Given the description of an element on the screen output the (x, y) to click on. 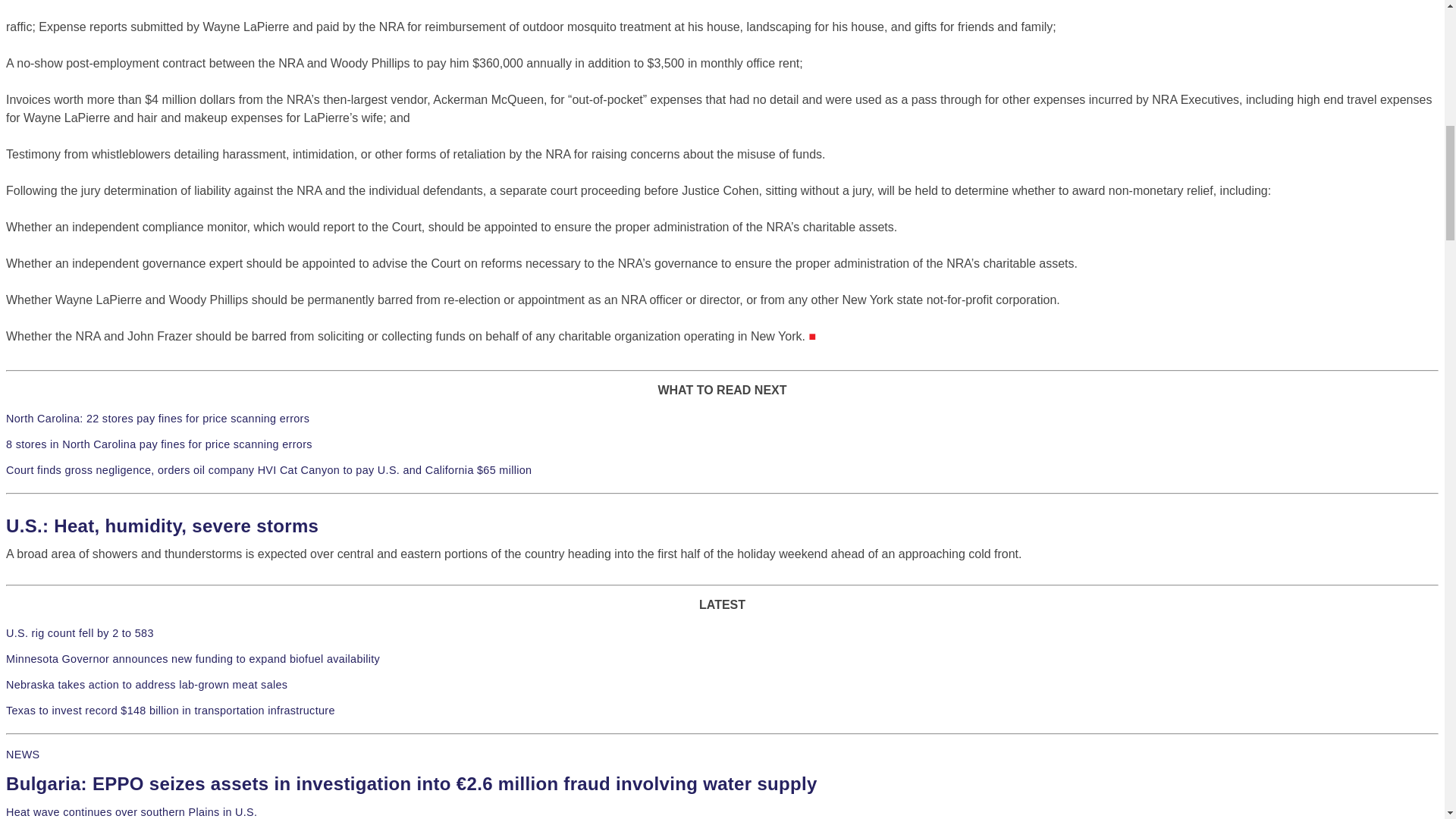
U.S.: Heat, humidity, severe storms (161, 525)
U.S. rig count fell by 2 to 583 (79, 633)
U.S. rig count fell by 2 to 583 (79, 633)
Nebraska takes action to address lab-grown meat sales (145, 684)
Nebraska takes action to address lab-grown meat sales (145, 684)
NEWS (22, 754)
U.S.: Heat, humidity, severe storms (161, 525)
